Given the description of an element on the screen output the (x, y) to click on. 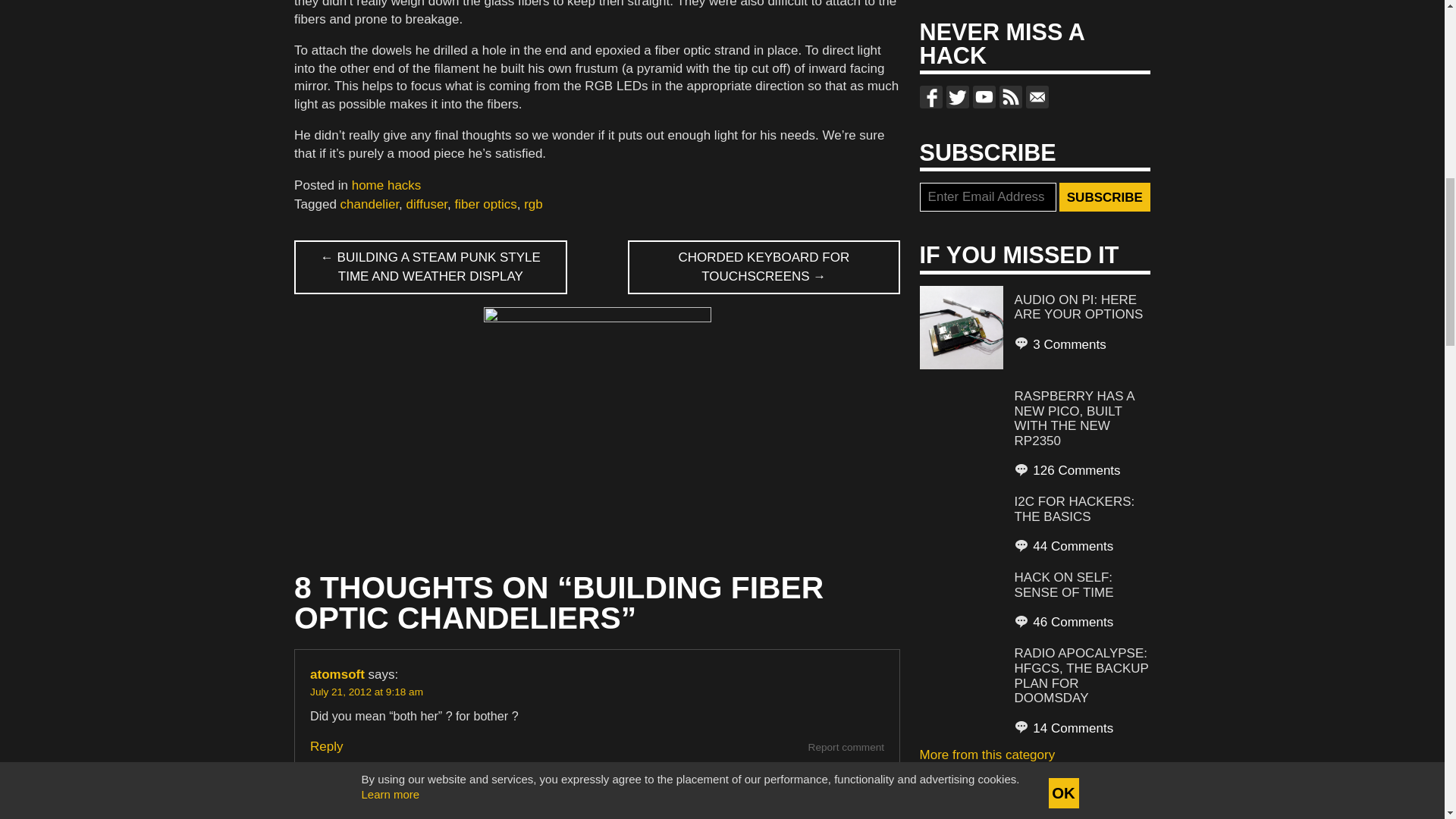
diffuser (427, 204)
rgb (533, 204)
fiber optics (485, 204)
home hacks (387, 185)
chandelier (369, 204)
Subscribe (1104, 196)
Report comment (845, 747)
July 21, 2012 at 9:18 am (366, 691)
atomsoft (337, 674)
